Given the description of an element on the screen output the (x, y) to click on. 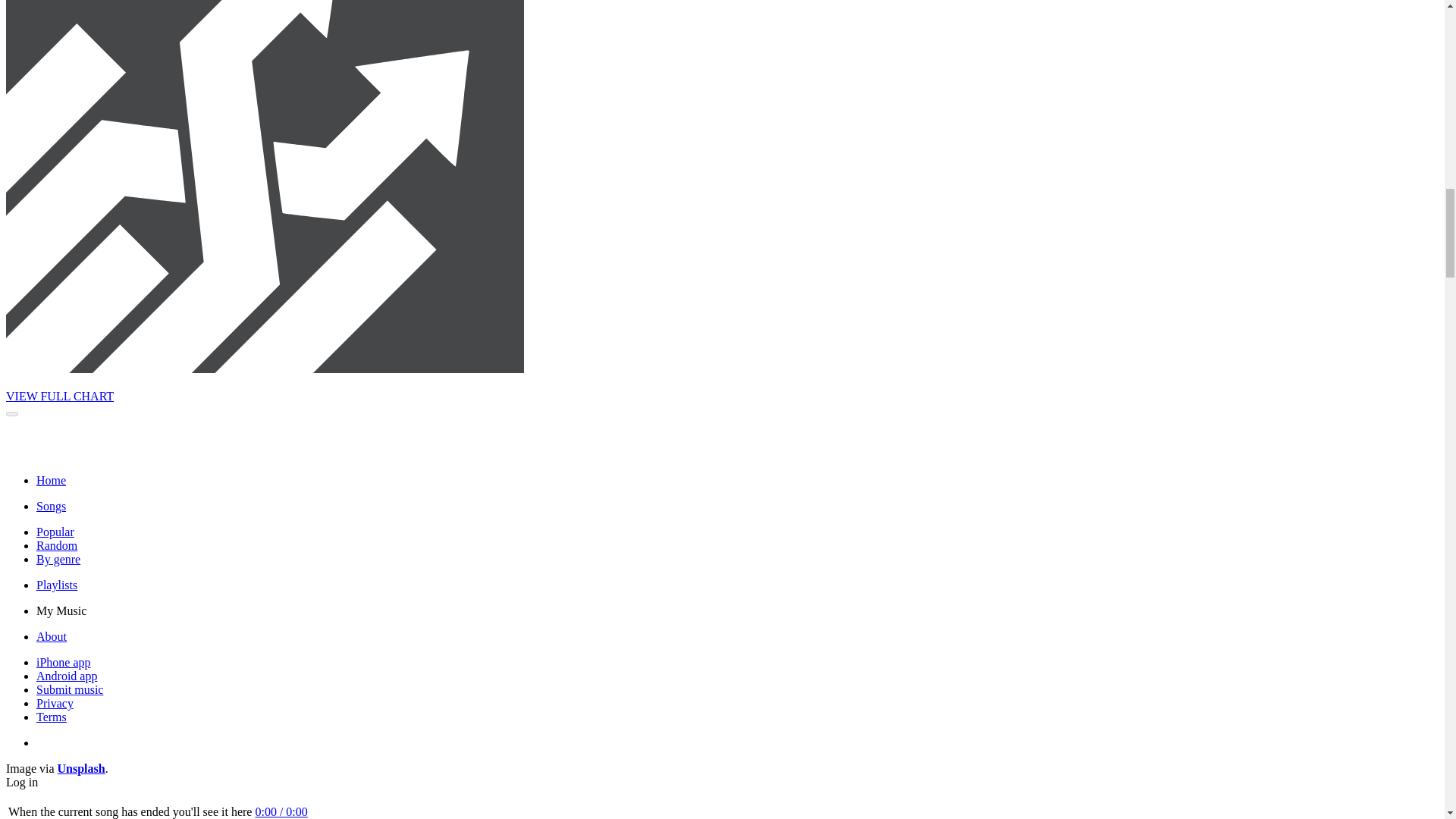
VIEW FULL CHART (59, 395)
Indie Genres (58, 558)
Download iPhone App (63, 662)
Terms (51, 716)
New Songs (50, 505)
Privacy (55, 703)
Download Android App (66, 675)
Songs (50, 505)
Homepage (50, 480)
Submit Music (69, 689)
About (51, 635)
My Music (60, 610)
Playlists (56, 584)
Random (56, 545)
Unsplash (81, 768)
